Given the description of an element on the screen output the (x, y) to click on. 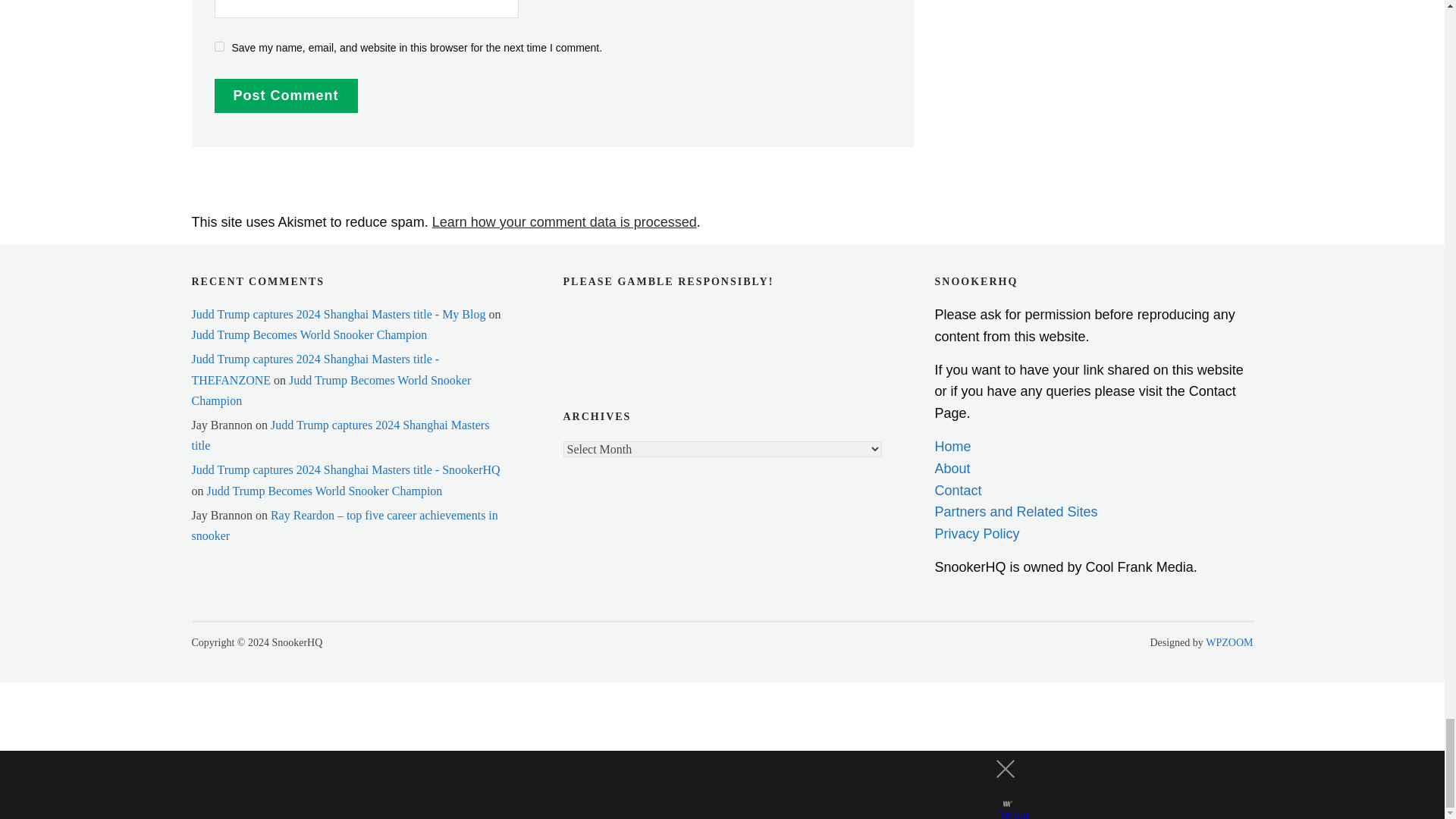
yes (219, 46)
Post Comment (285, 95)
